Given the description of an element on the screen output the (x, y) to click on. 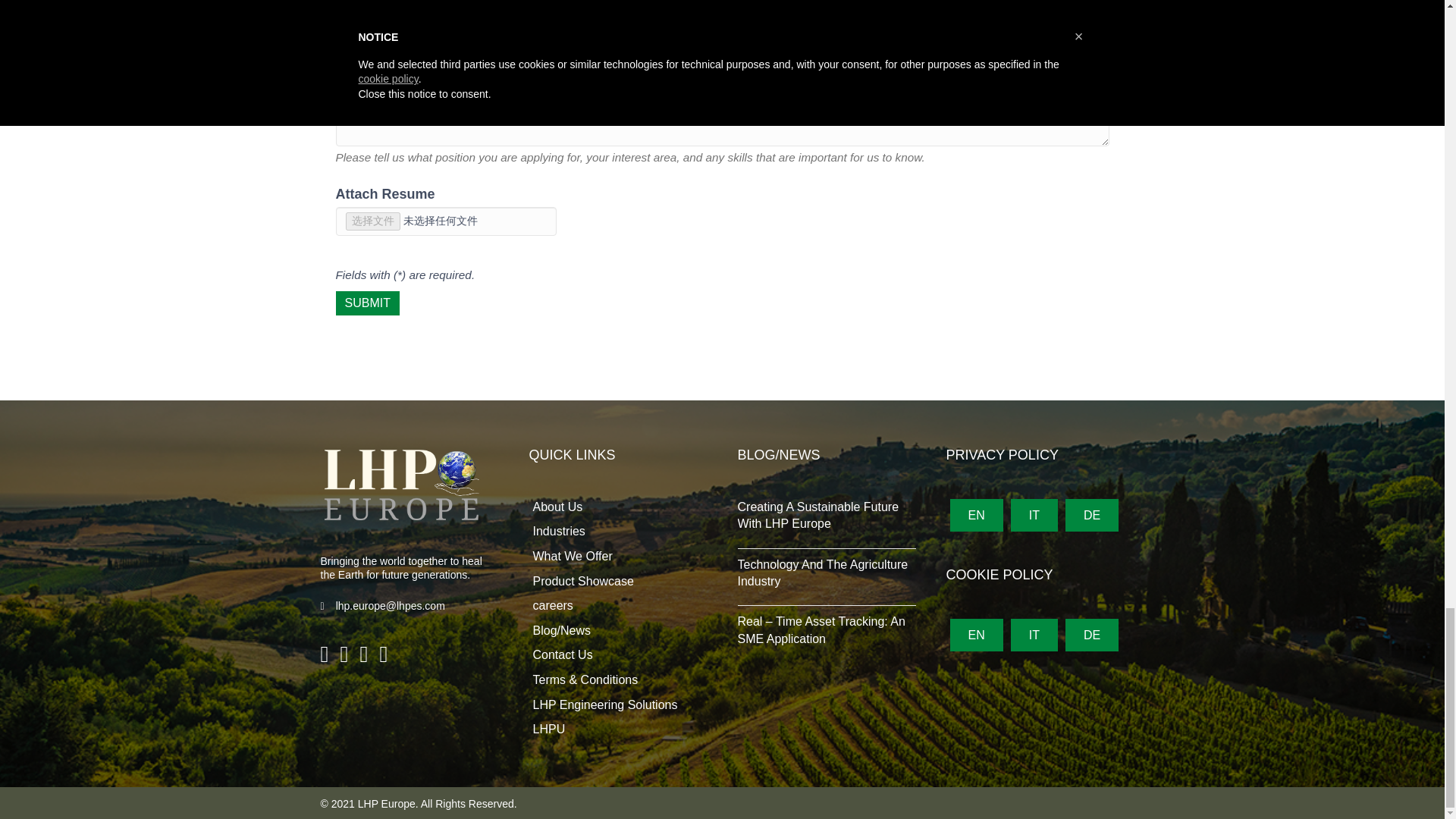
Technology and the Agriculture Industry (821, 572)
SUBMIT (366, 302)
SUBMIT (366, 302)
